Given the description of an element on the screen output the (x, y) to click on. 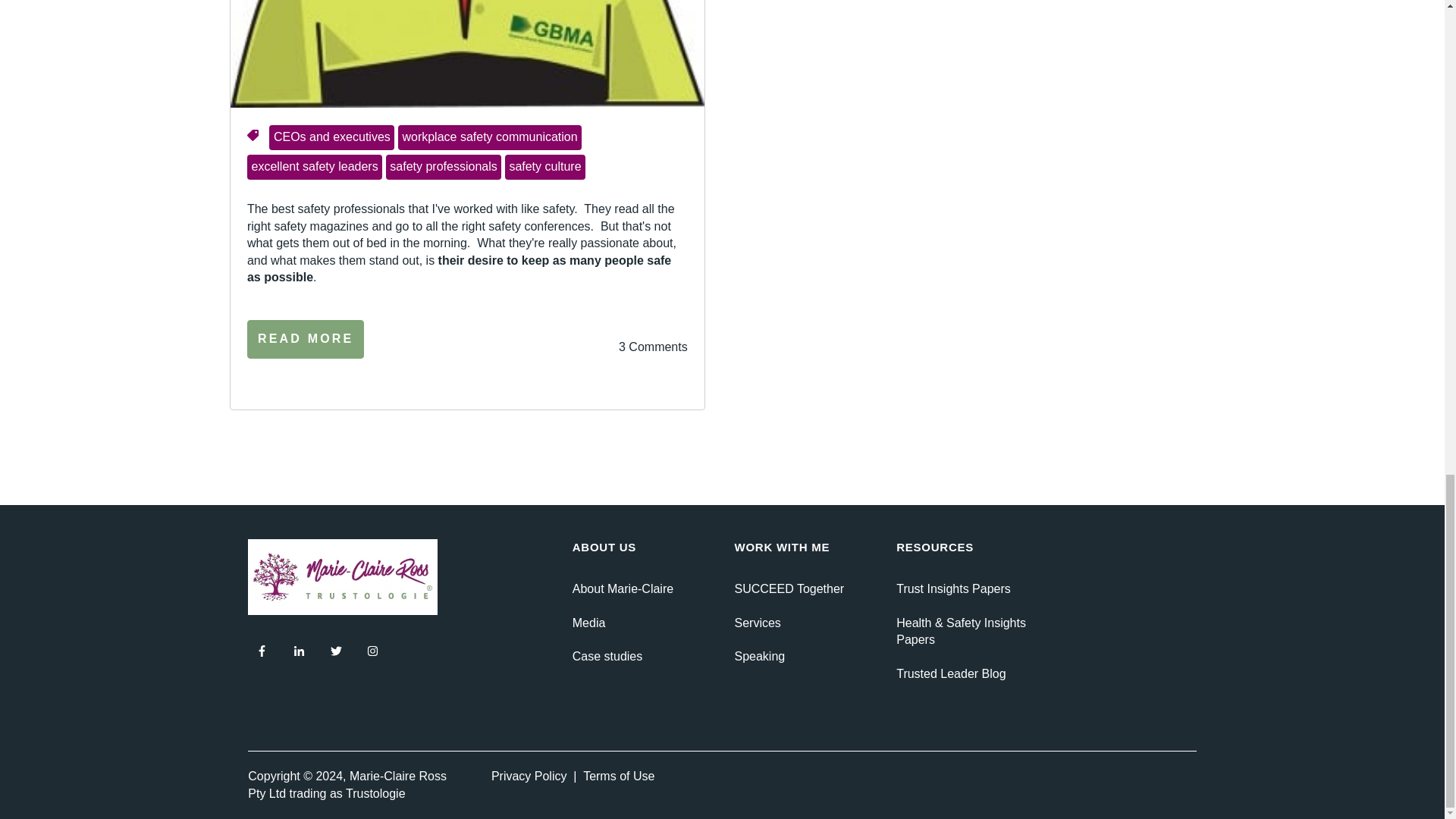
Case studies (607, 656)
excellent safety leaders (314, 167)
CEOs and executives (331, 137)
workplace safety communication (488, 137)
About Marie-Claire (622, 588)
Media (588, 622)
safety culture (545, 167)
READ MORE (306, 338)
250 Pixels White Background-01 (342, 576)
safety professionals (443, 167)
